Given the description of an element on the screen output the (x, y) to click on. 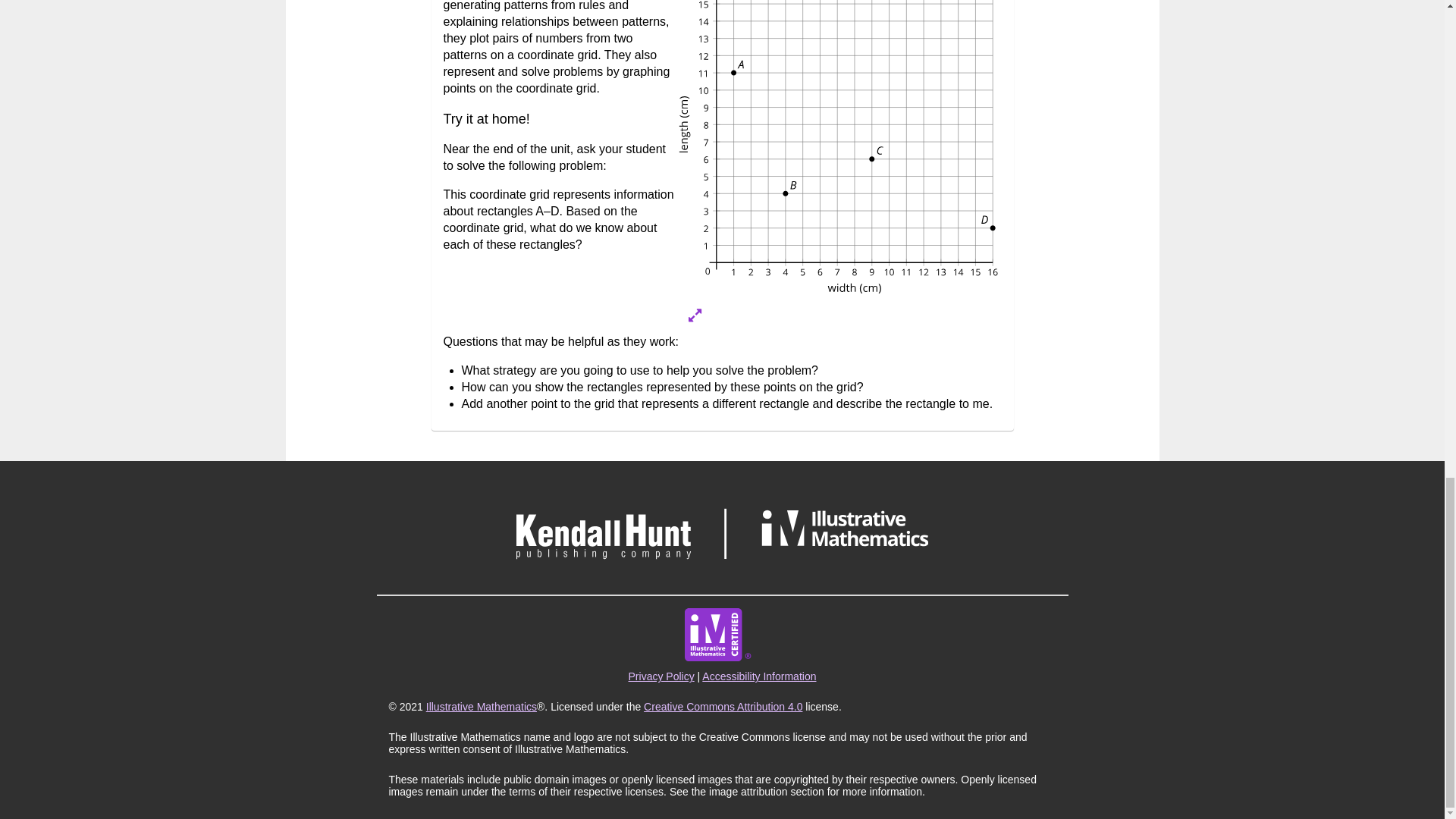
Expand image (694, 315)
Privacy Policy (661, 676)
Accessibility Information (758, 676)
Illustrative Mathematics (481, 706)
Creative Commons Attribution 4.0 (722, 706)
